Given the description of an element on the screen output the (x, y) to click on. 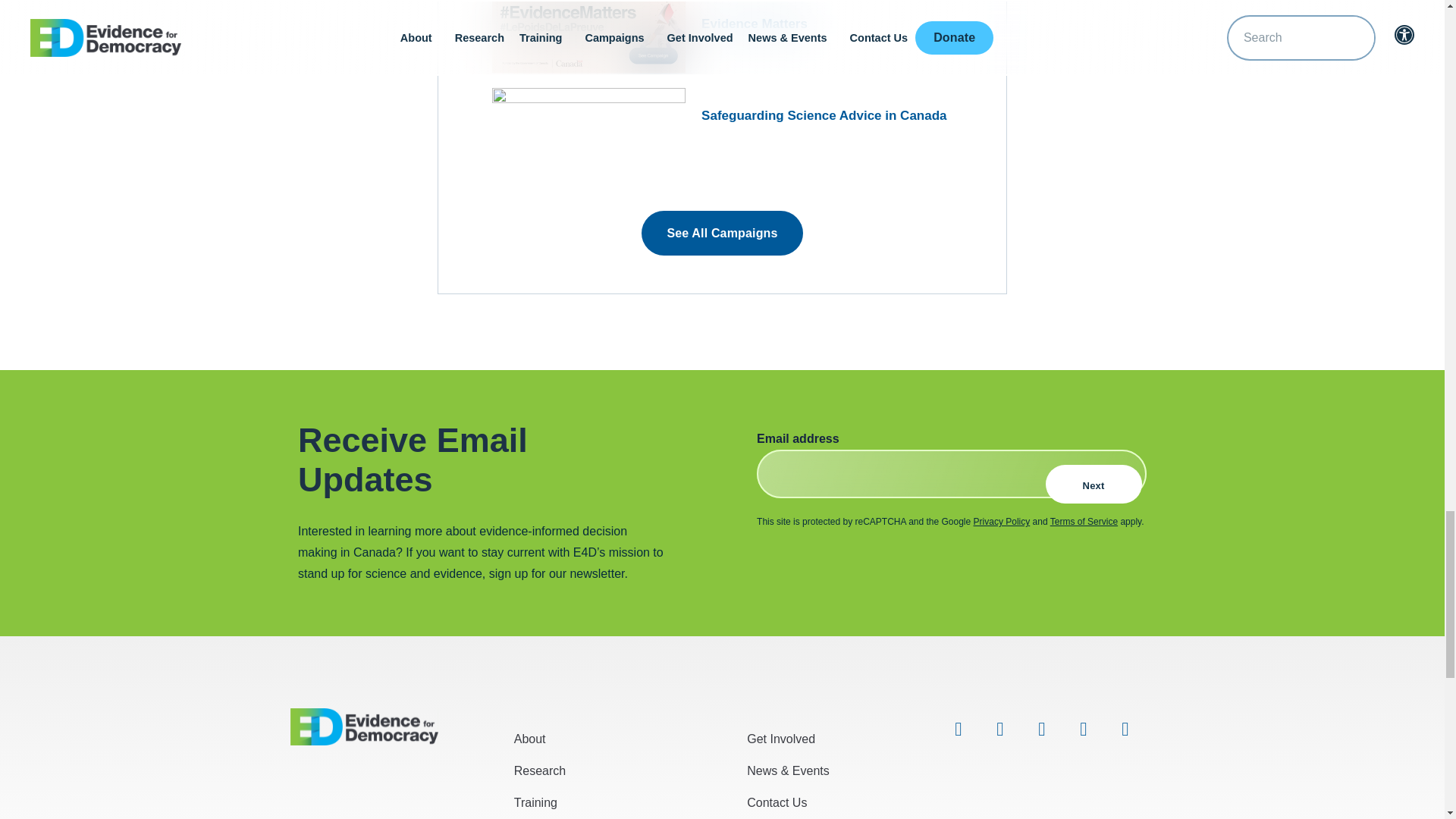
Next (1093, 484)
